Given the description of an element on the screen output the (x, y) to click on. 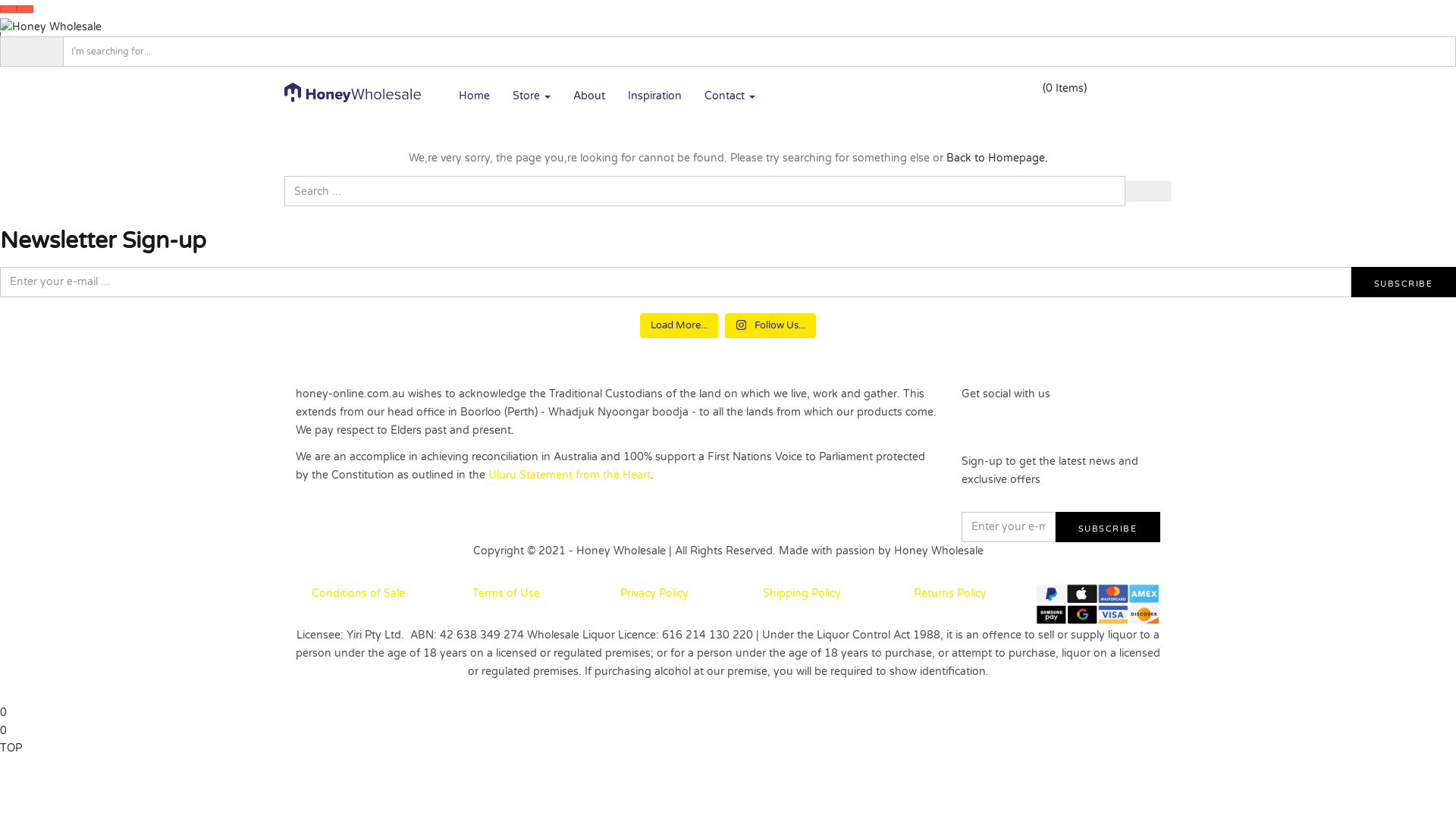
Terms of Use Element type: text (505, 592)
Store Element type: text (531, 95)
Shipping Policy Element type: text (801, 592)
Inspiration Element type: text (654, 95)
Uluru Statement from the Heart Element type: text (569, 474)
About Element type: text (588, 95)
Conditions of Sale Element type: text (357, 592)
Home Element type: text (474, 95)
0 Element type: text (3, 712)
Privacy Policy Element type: text (654, 592)
Follow Us... Element type: text (769, 325)
Returns Policy Element type: text (949, 592)
Back to Homepage. Element type: text (997, 157)
payment-methods-secure Element type: hover (1097, 605)
0 Element type: text (3, 730)
Contact Element type: text (729, 95)
(0 Items) Element type: text (1064, 87)
SUBSCRIBE Element type: text (1107, 526)
Load More... Element type: text (679, 325)
